Given the description of an element on the screen output the (x, y) to click on. 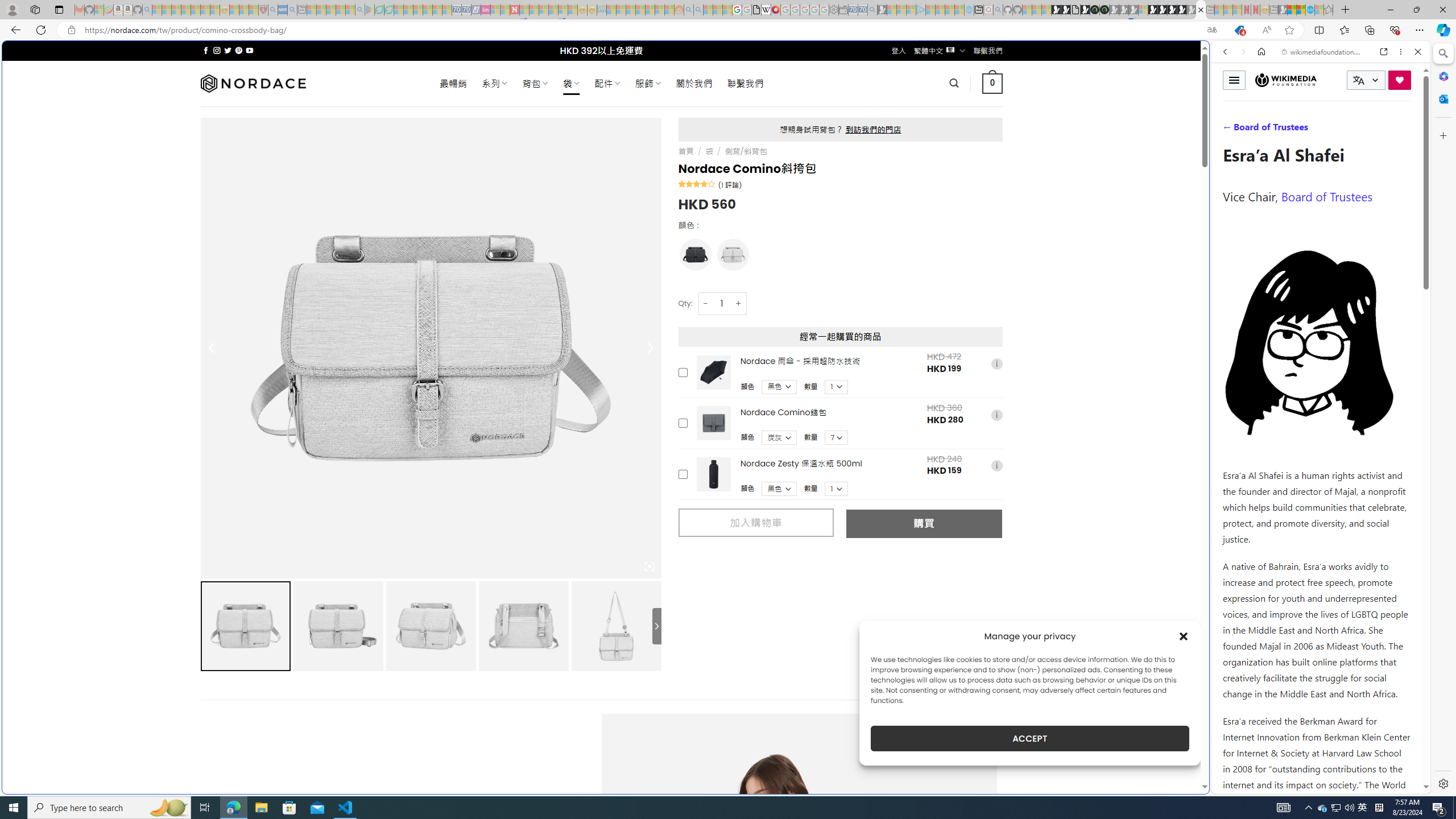
Frequently visited (965, 151)
